Given the description of an element on the screen output the (x, y) to click on. 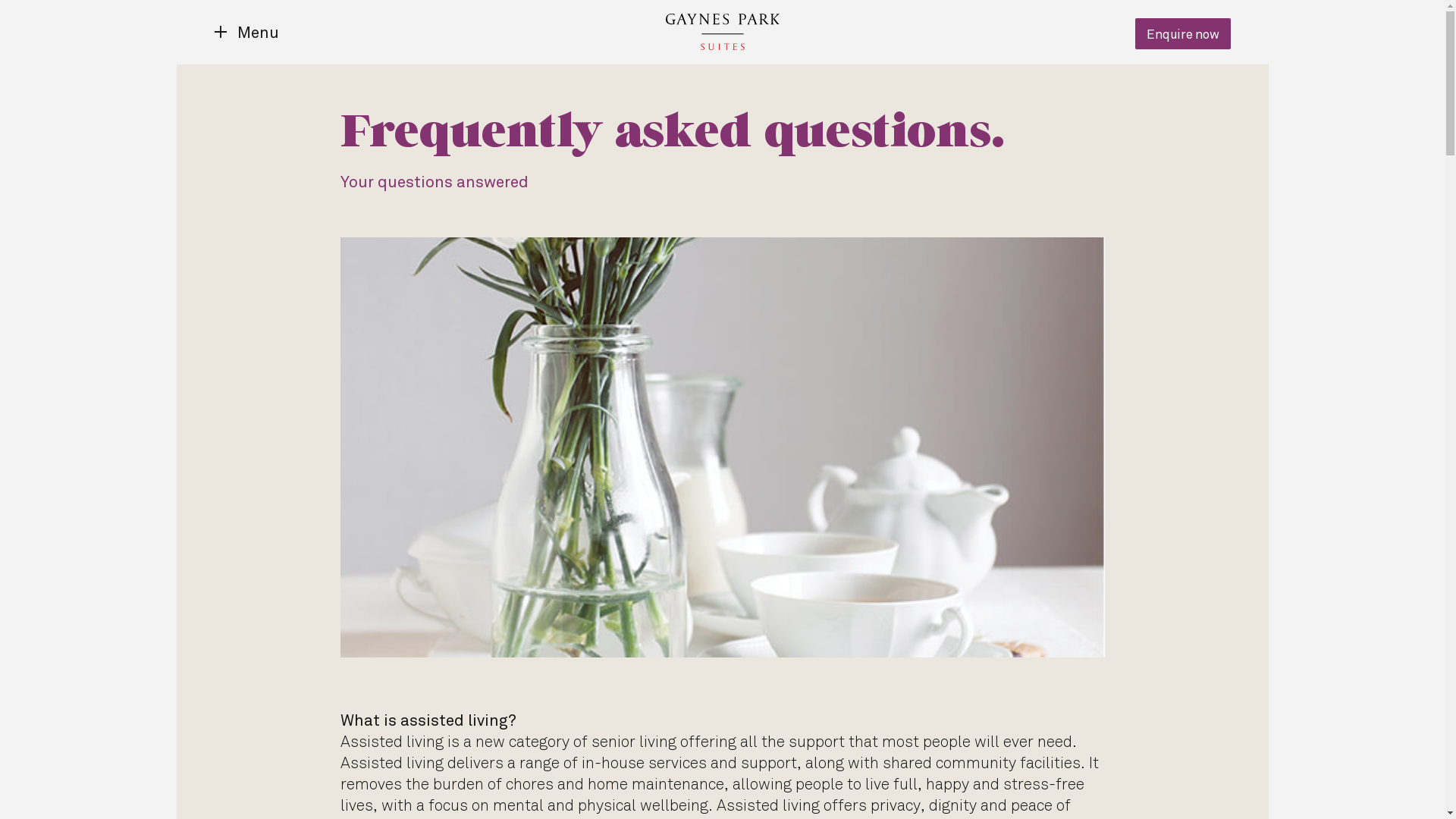
Enquire now Element type: text (1182, 33)
Menu Element type: text (245, 31)
